Given the description of an element on the screen output the (x, y) to click on. 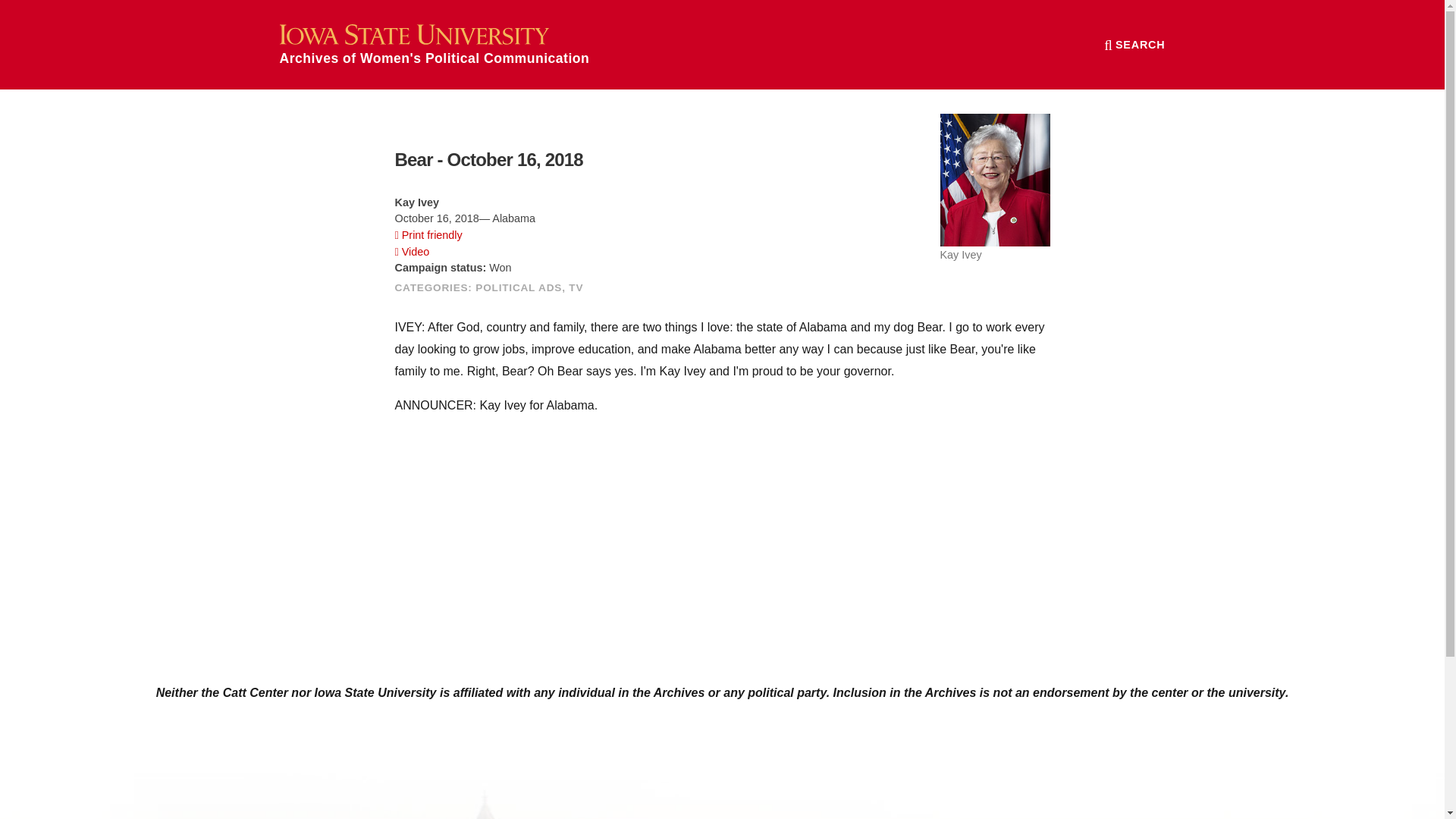
Home (433, 44)
Video (411, 251)
TV (576, 287)
POLITICAL ADS (519, 287)
Search this website (1133, 44)
Archives of Women's Political Communication (433, 44)
Print friendly (427, 234)
